Given the description of an element on the screen output the (x, y) to click on. 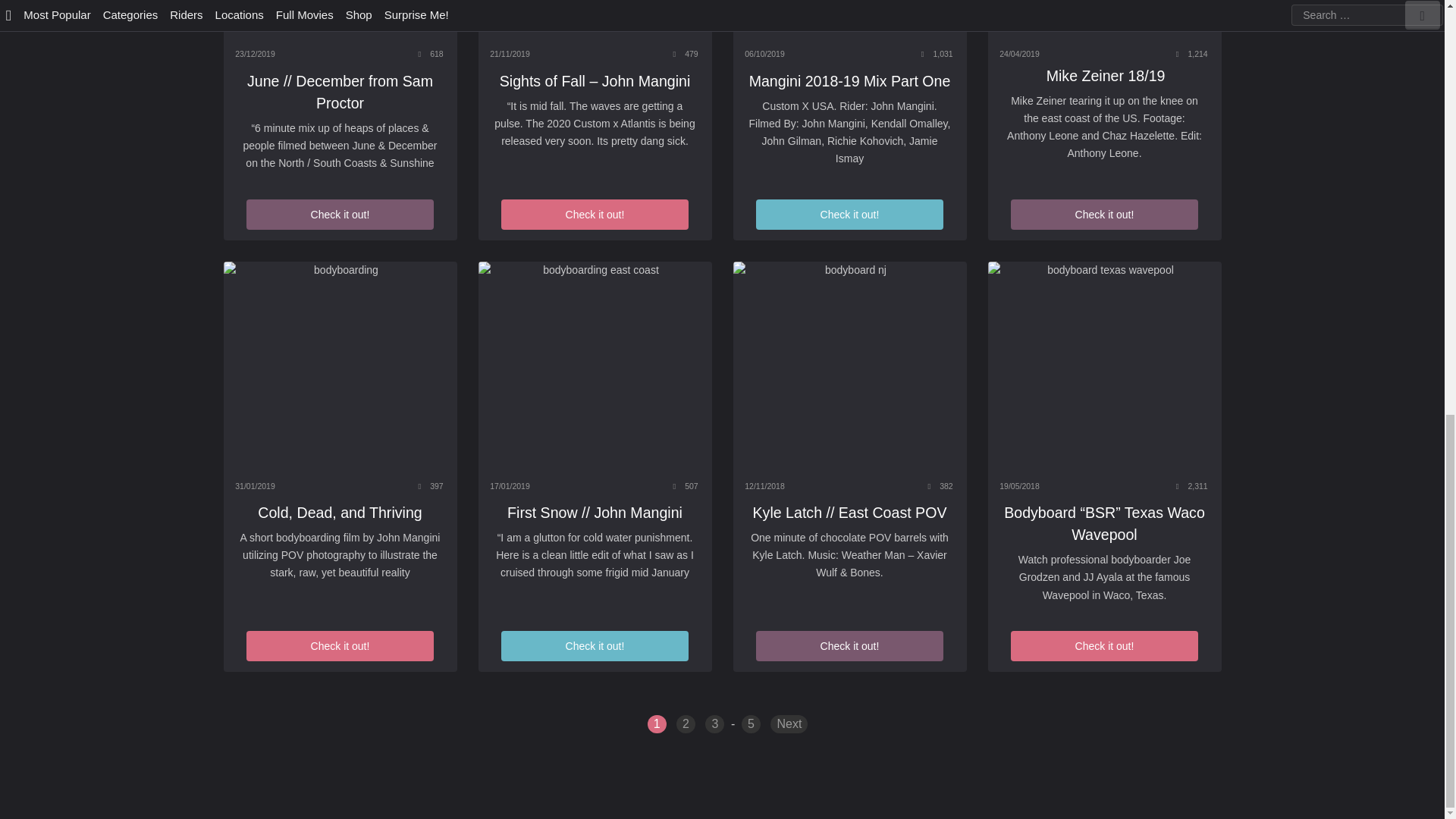
Mangini 2018-19 Mix Part One (849, 20)
Bodyboard "BSR" Texas Waco Wavepool (1104, 366)
Mangini 2018-19 Mix Part One (849, 81)
Cold, Dead, and Thriving (339, 366)
Check it out! (593, 214)
Check it out! (339, 214)
Check it out! (1103, 214)
Sights of Fall - John Mangini (594, 20)
Check it out! (848, 214)
